Given the description of an element on the screen output the (x, y) to click on. 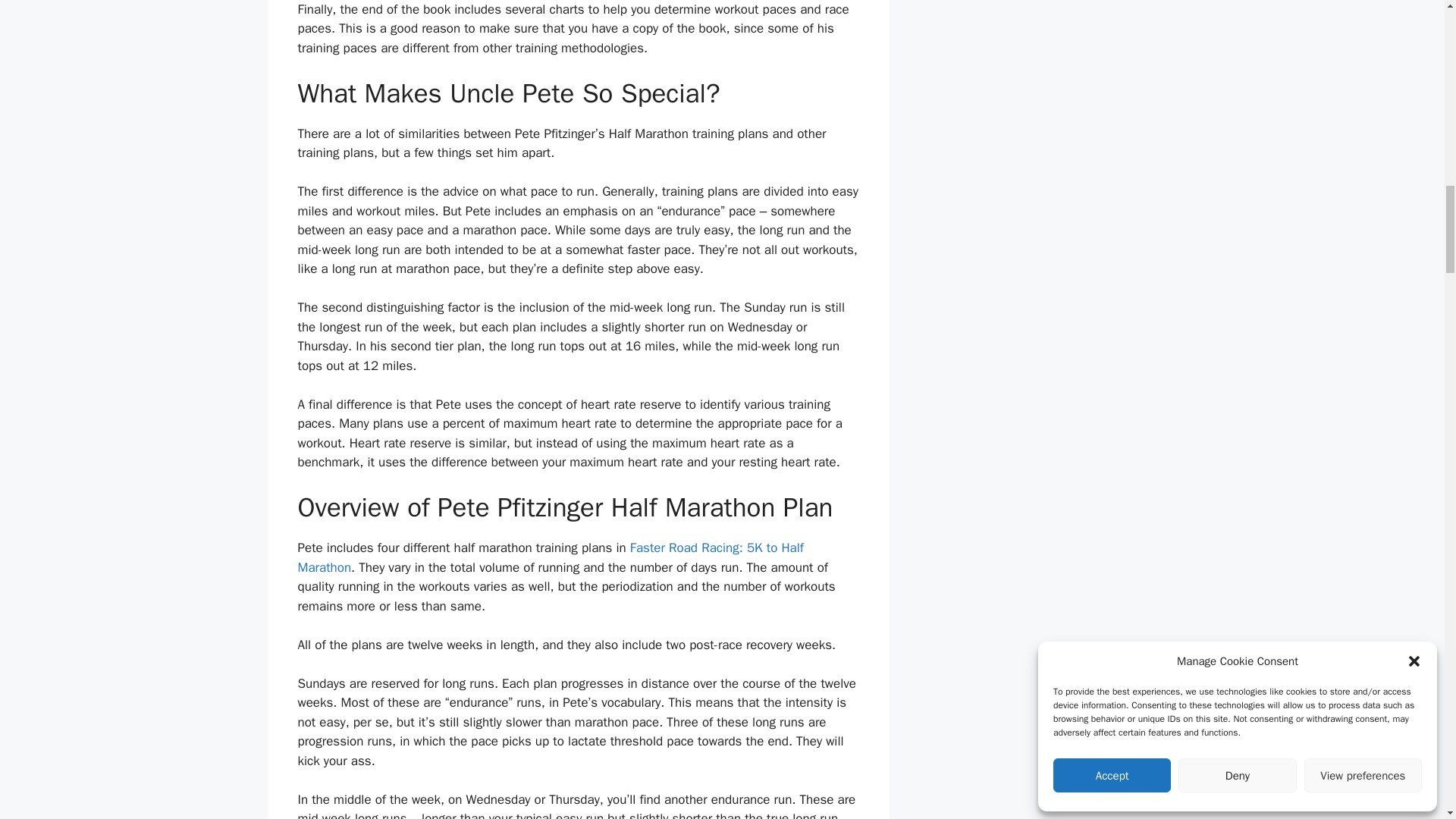
Faster Road Racing: 5K to Half Marathon (550, 557)
Faster Road Racing: 5K to Half Marathon (550, 557)
